Given the description of an element on the screen output the (x, y) to click on. 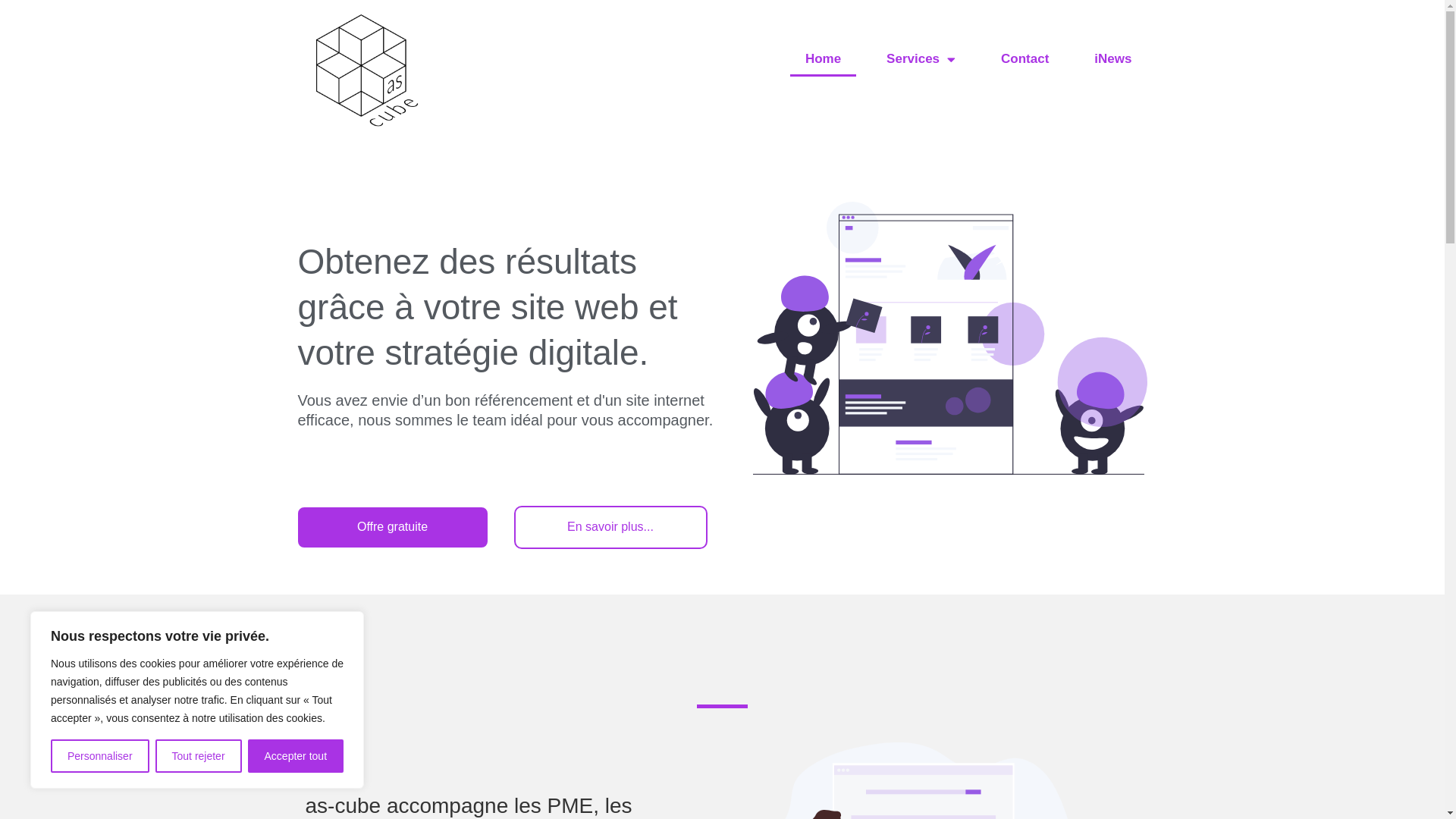
Offre gratuite Element type: text (391, 526)
Services Element type: text (920, 58)
Personnaliser Element type: text (99, 755)
Tout rejeter Element type: text (198, 755)
Accepter tout Element type: text (295, 755)
Contact Element type: text (1024, 58)
Home Element type: text (823, 58)
En savoir plus... Element type: text (610, 526)
iNews Element type: text (1112, 58)
